Given the description of an element on the screen output the (x, y) to click on. 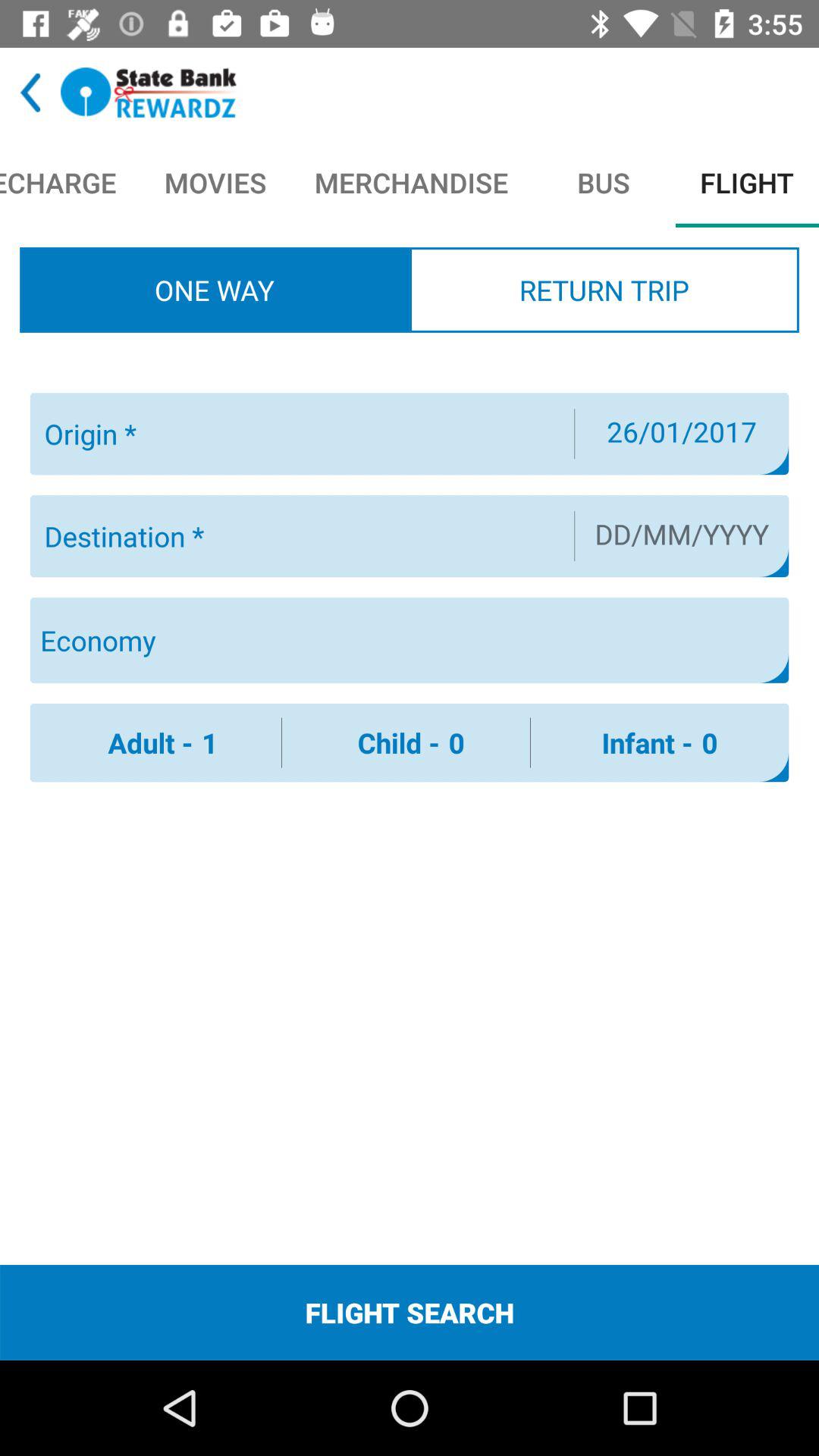
click on logo (148, 92)
